Given the description of an element on the screen output the (x, y) to click on. 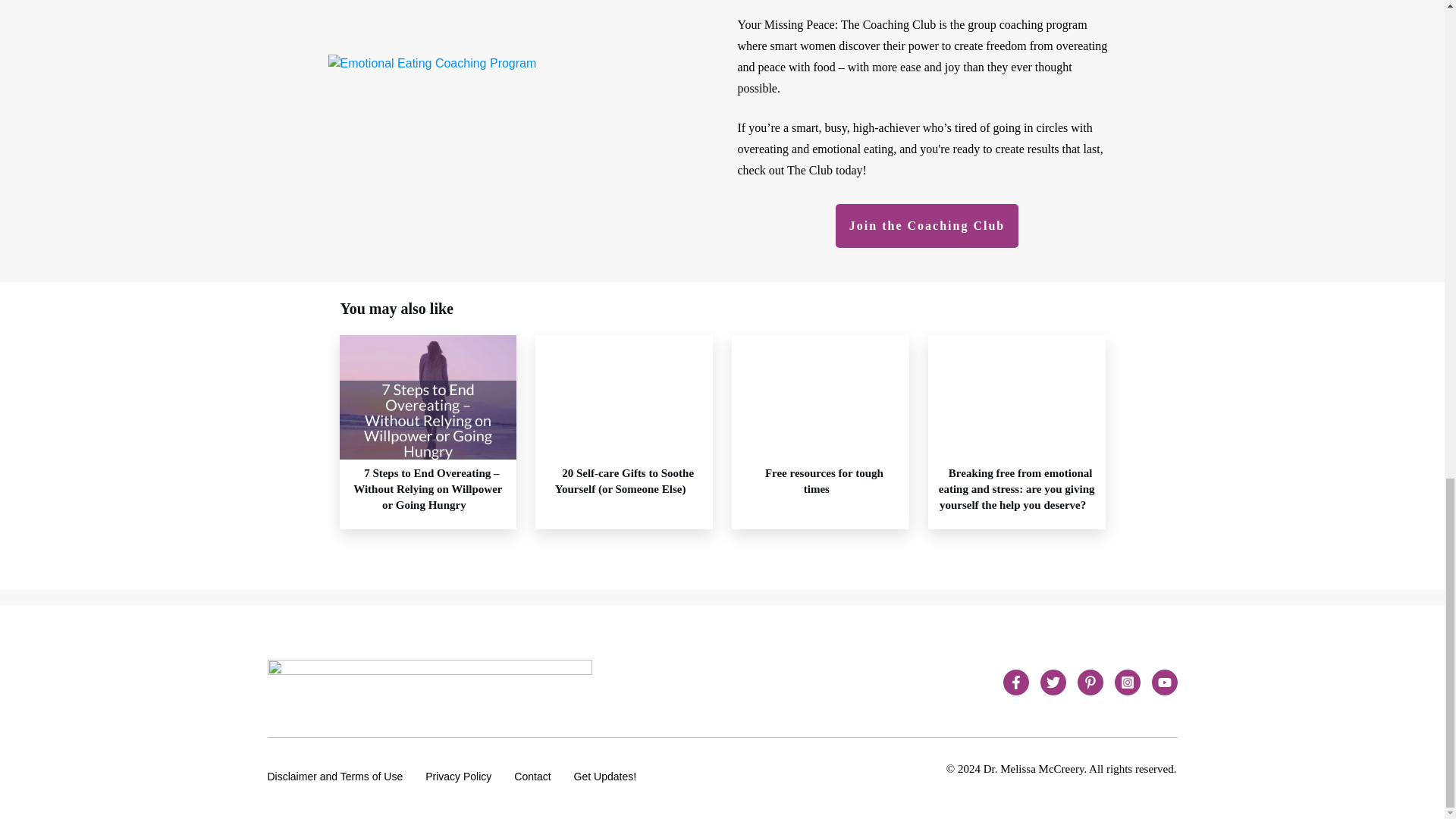
Disclaimer and Terms of Use (334, 776)
Privacy Policy (458, 776)
Free resources for tough times (820, 480)
Your Missing Peace: The Coaching Club (516, 138)
Contact (531, 776)
Free resources for tough times (820, 480)
tmohp-logo (428, 682)
